Given the description of an element on the screen output the (x, y) to click on. 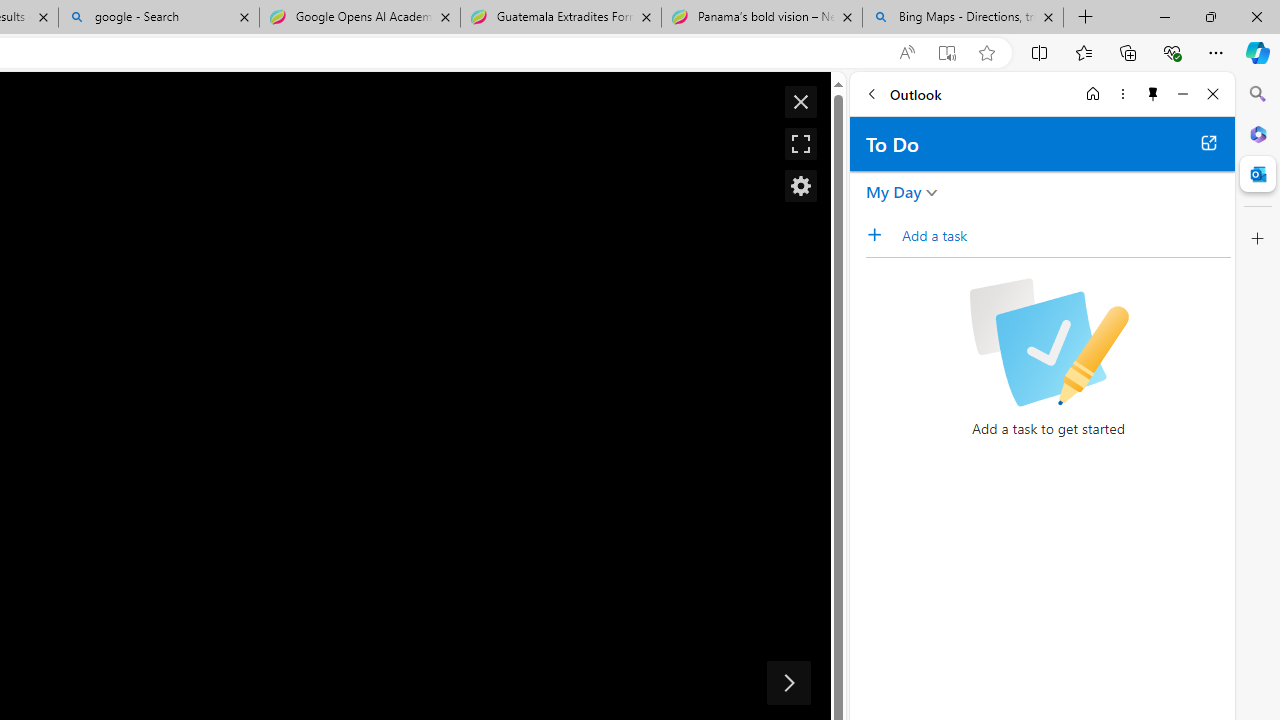
Show next image (788, 682)
Enable or disable Media Viewer (800, 185)
Show in full screen (800, 143)
Add a task (1065, 235)
